Given the description of an element on the screen output the (x, y) to click on. 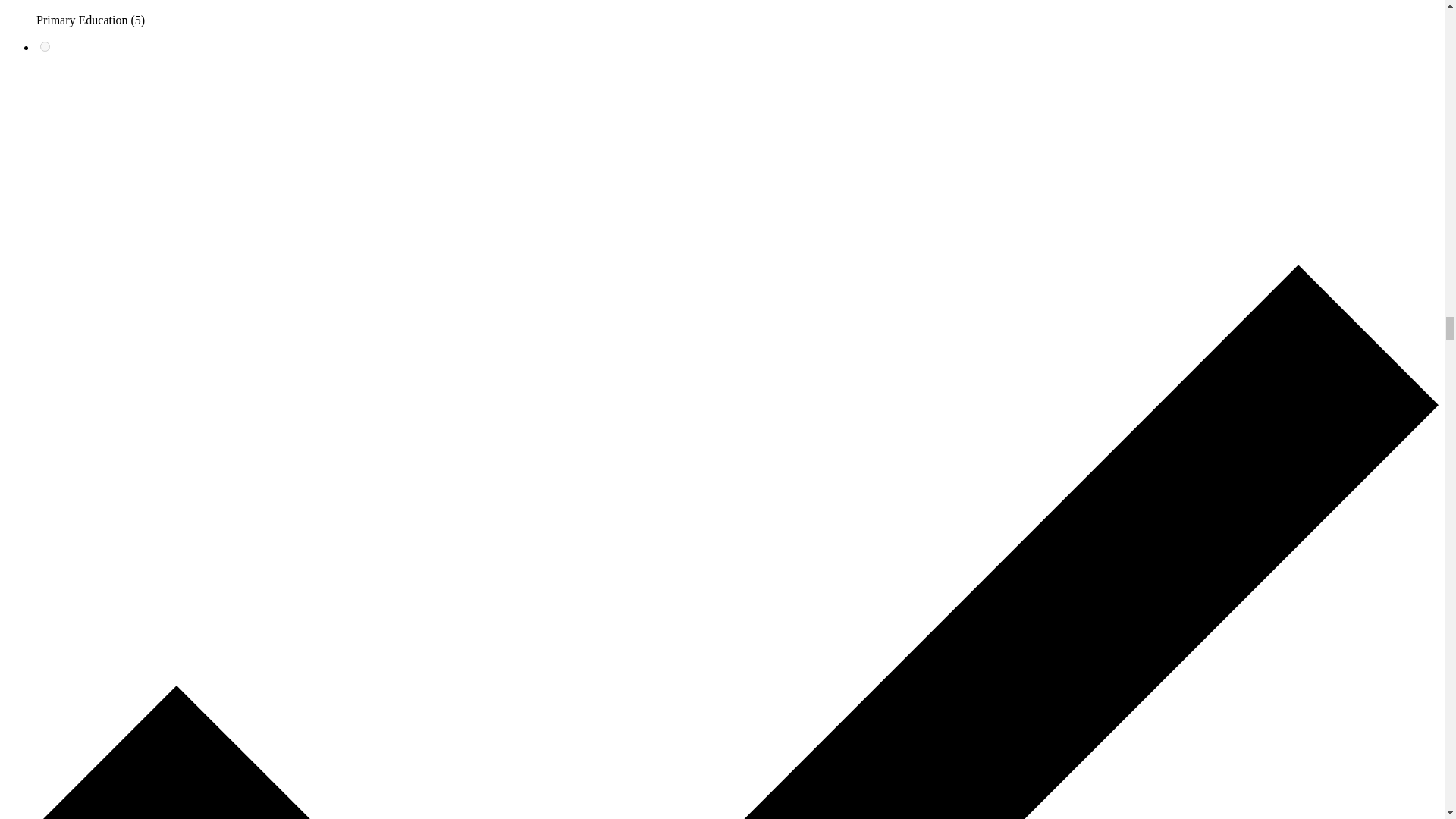
4 (44, 46)
